Given the description of an element on the screen output the (x, y) to click on. 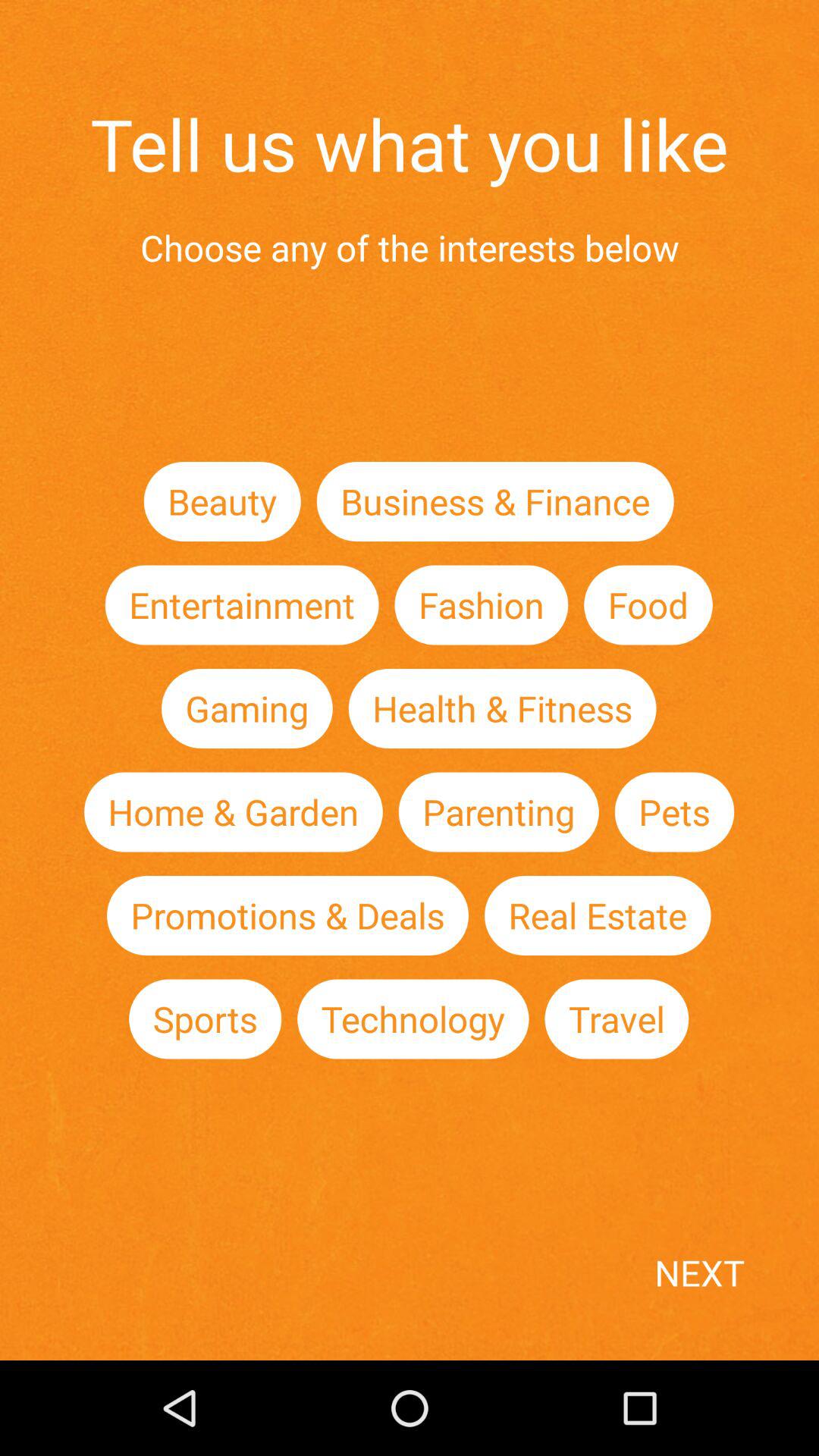
open the icon next to fashion icon (241, 604)
